Given the description of an element on the screen output the (x, y) to click on. 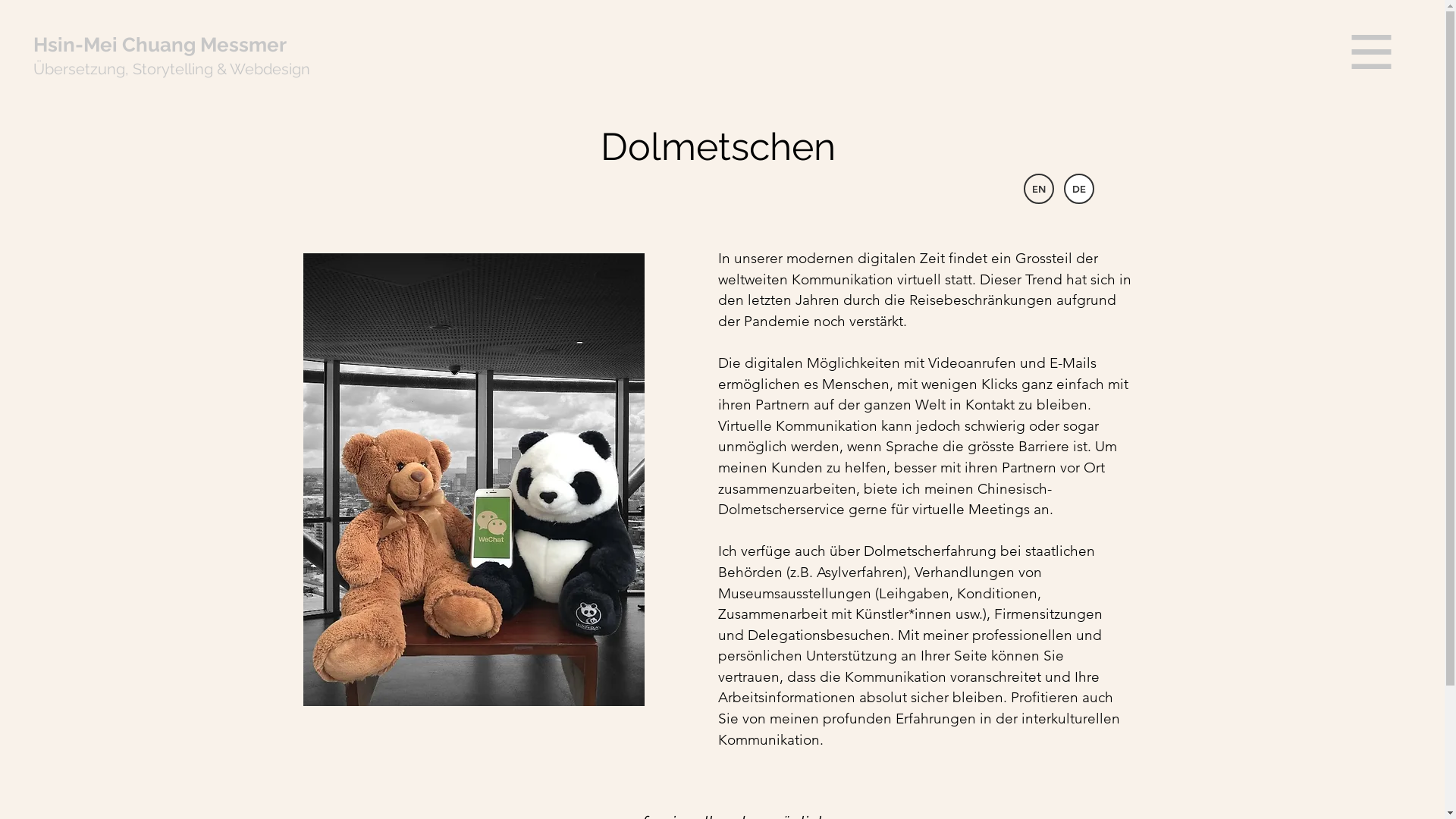
Hsin-Mei Chuang Messmer Element type: text (159, 44)
EN Element type: text (1038, 188)
